Given the description of an element on the screen output the (x, y) to click on. 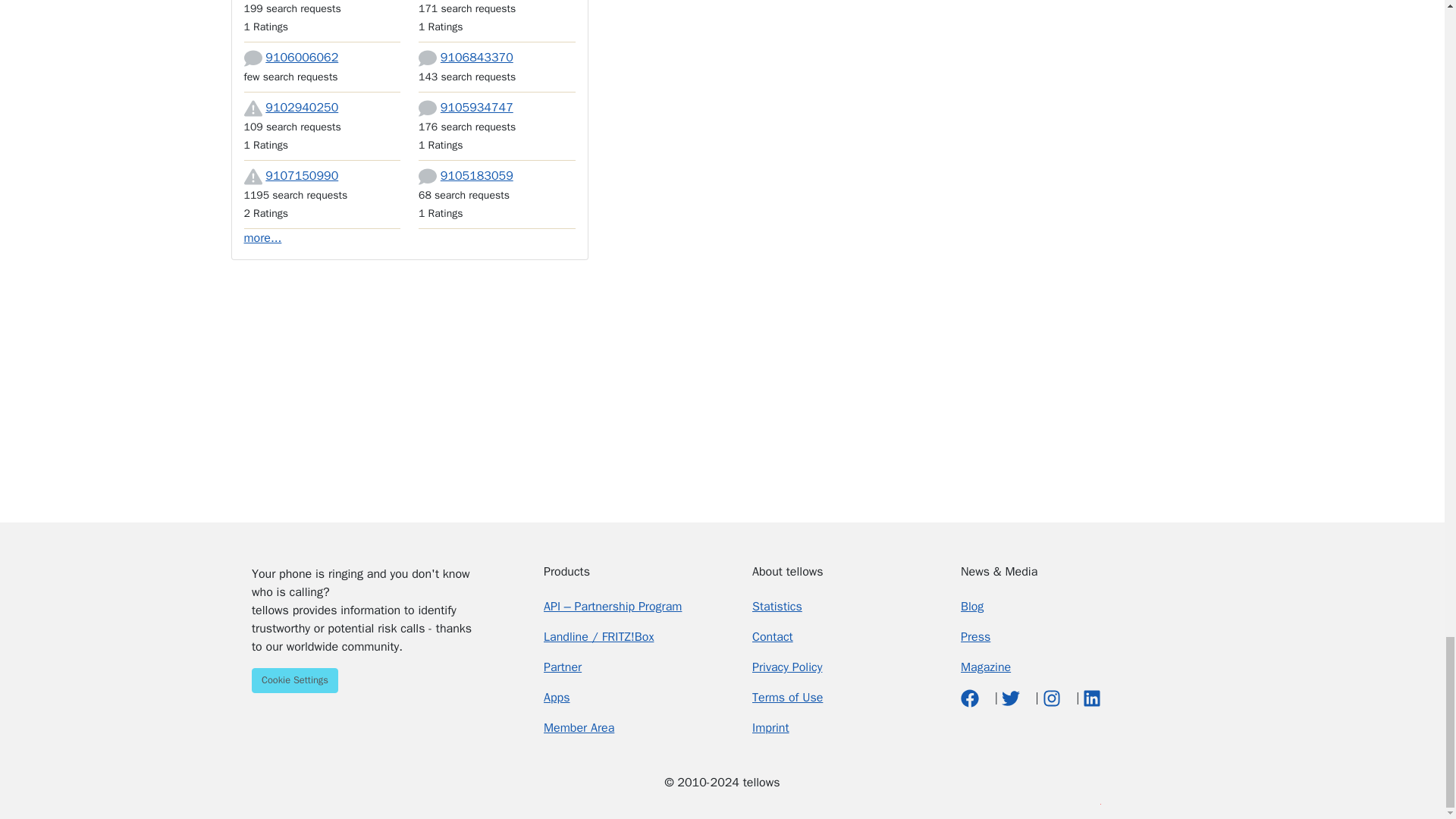
tellows Germany (349, 803)
tellows Japan (505, 803)
tellows Netherlands (446, 803)
tellows Great Britain (387, 803)
twitter (1012, 697)
tellows Switzerland (485, 803)
tellows France (426, 803)
LinkedIn (1091, 697)
Presse (975, 636)
Blog (972, 606)
tellows Spain (407, 803)
Magazin (985, 667)
tellows Austria (465, 803)
tellows USA (368, 803)
Instagram (1053, 697)
